Given the description of an element on the screen output the (x, y) to click on. 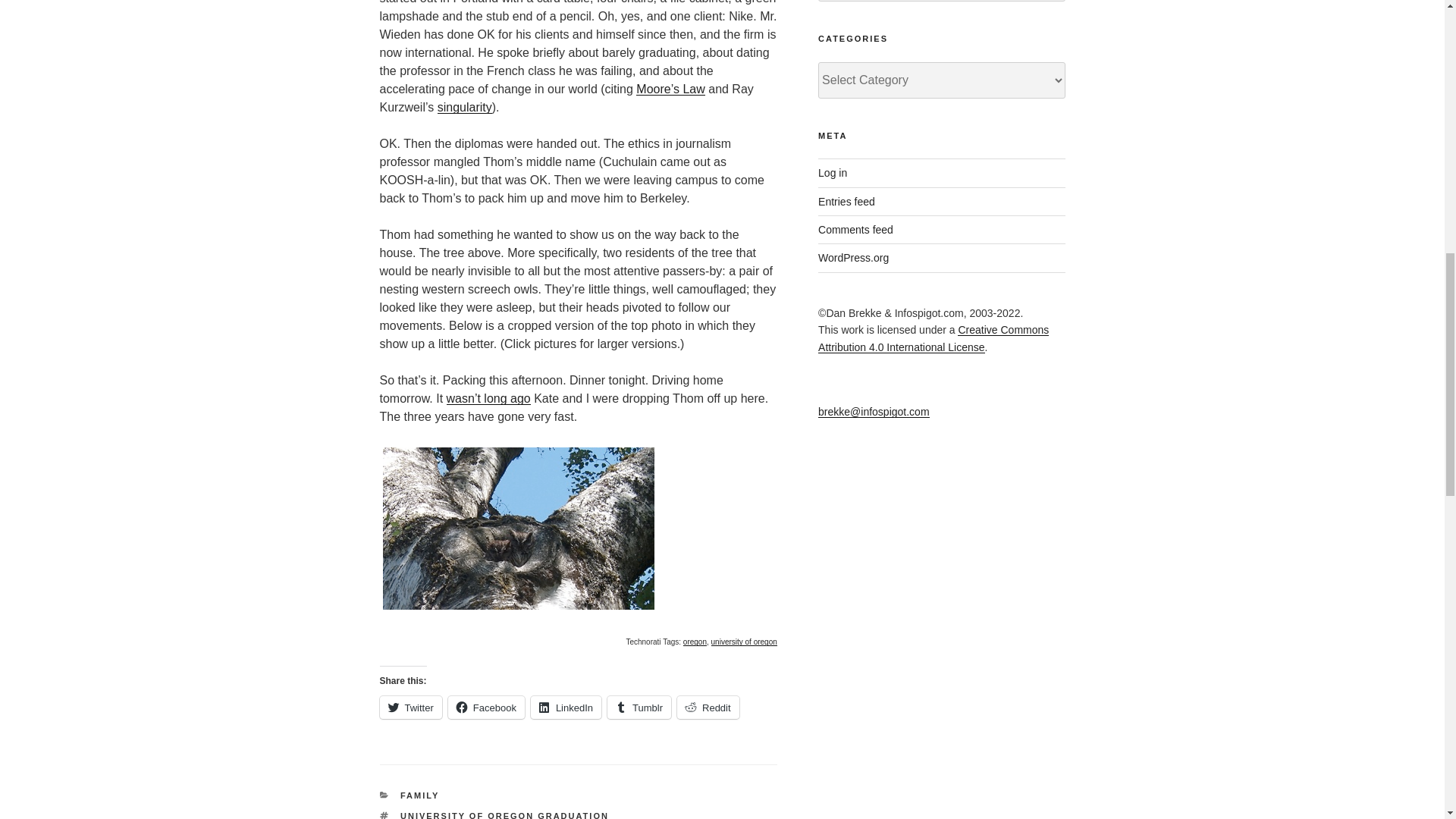
Tumblr (639, 707)
Reddit (708, 707)
oregon (694, 642)
singularity (465, 106)
Click to share on Facebook (486, 707)
LinkedIn (566, 707)
FAMILY (419, 795)
Click to share on Twitter (409, 707)
Click to share on Reddit (708, 707)
Click to share on Tumblr (639, 707)
Click to share on LinkedIn (566, 707)
university of oregon (744, 642)
Twitter (409, 707)
Facebook (486, 707)
UNIVERSITY OF OREGON GRADUATION (504, 815)
